Given the description of an element on the screen output the (x, y) to click on. 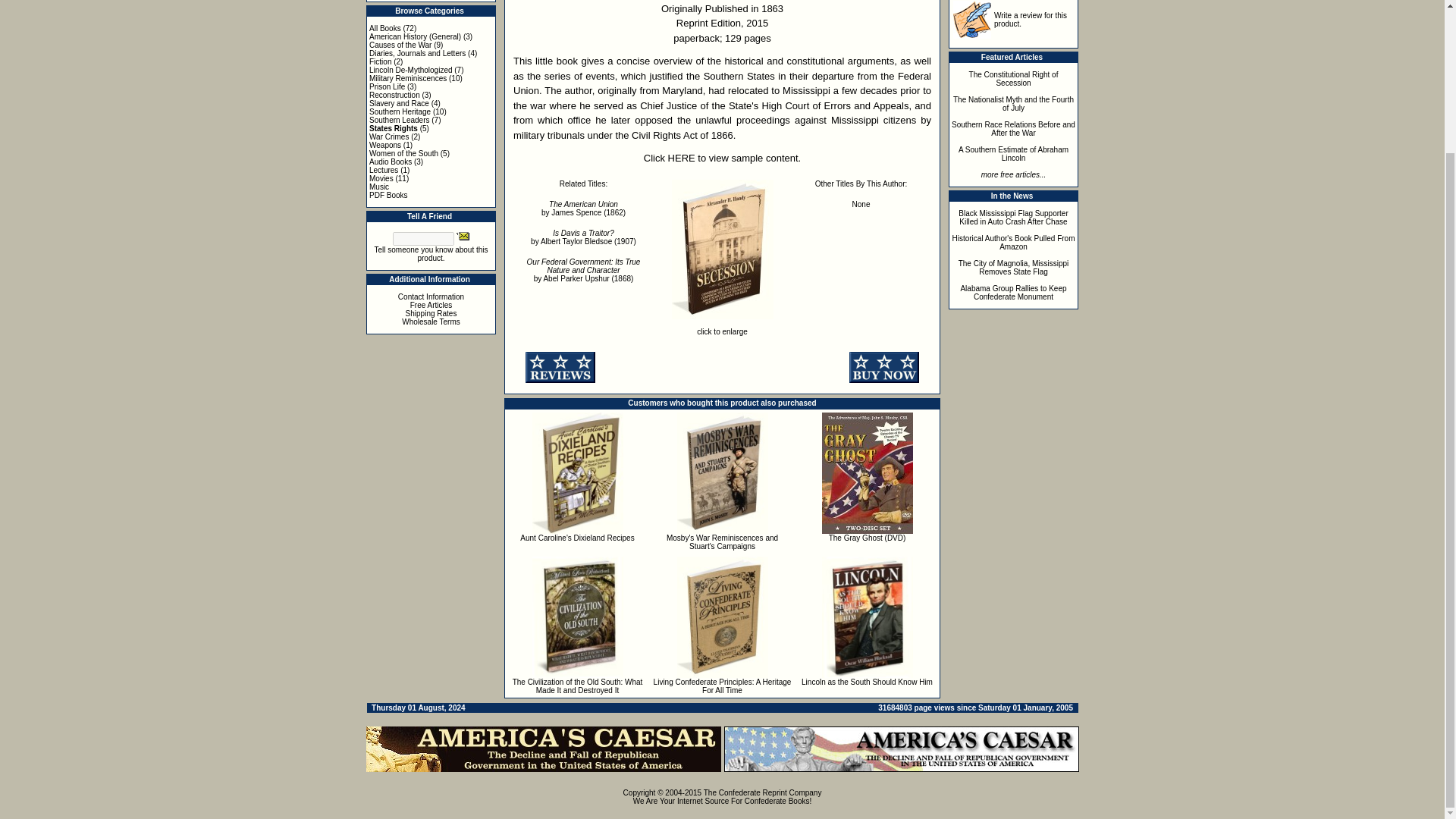
 Americas Caesar  (900, 749)
Weapons (385, 144)
 Reviews  (560, 367)
Prison Life (386, 86)
Southern Leaders (399, 120)
Contact Information (430, 296)
HERE (681, 157)
Music (378, 186)
Lincoln De-Mythologized (410, 70)
Fiction (380, 61)
War Crimes (389, 136)
Movies (381, 178)
PDF Books (388, 194)
Audio Books (390, 162)
 Write Review  (972, 19)
